Given the description of an element on the screen output the (x, y) to click on. 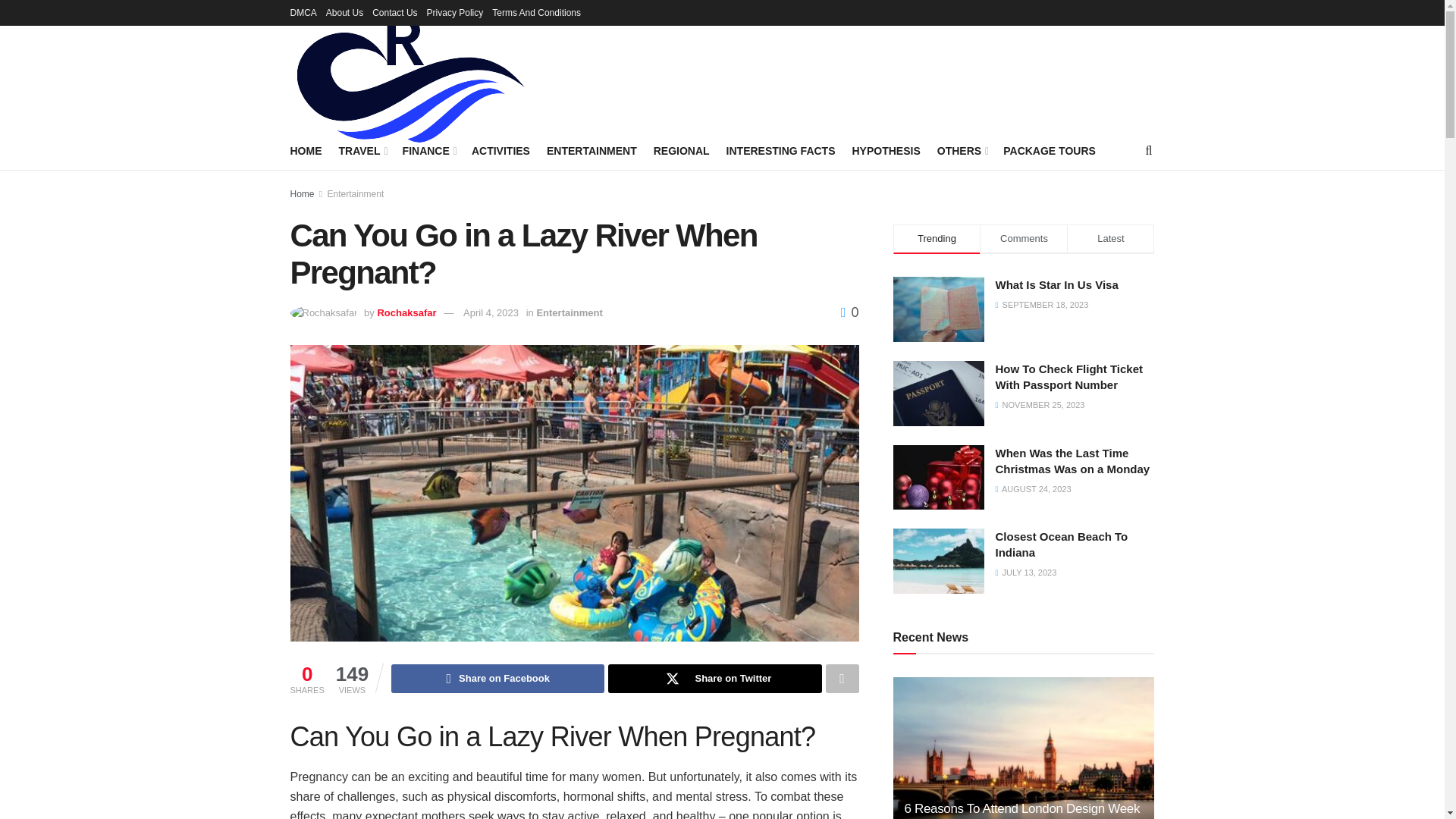
HYPOTHESIS (885, 150)
ENTERTAINMENT (592, 150)
TRAVEL (361, 150)
DMCA (302, 12)
Privacy Policy (454, 12)
Contact Us (394, 12)
FINANCE (428, 150)
REGIONAL (681, 150)
About Us (344, 12)
OTHERS (962, 150)
Terms And Conditions (536, 12)
ACTIVITIES (500, 150)
HOME (305, 150)
INTERESTING FACTS (780, 150)
PACKAGE TOURS (1049, 150)
